Given the description of an element on the screen output the (x, y) to click on. 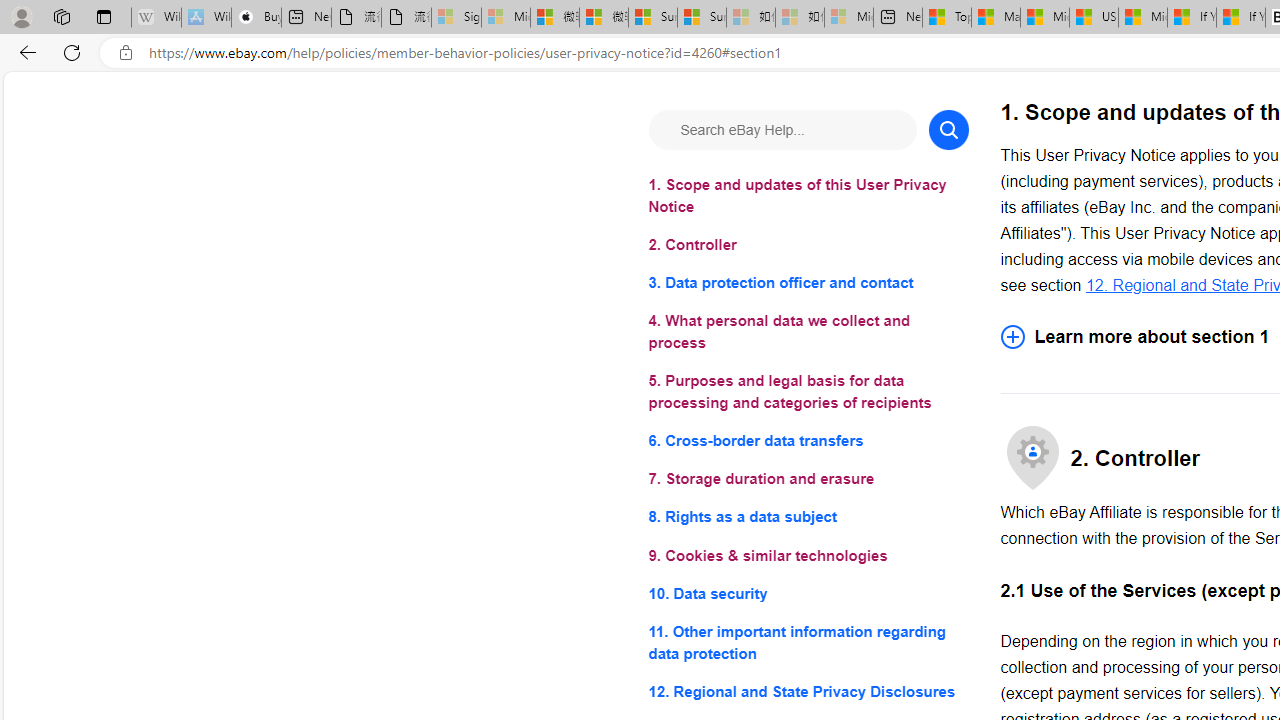
7. Storage duration and erasure (807, 479)
9. Cookies & similar technologies (807, 555)
Top Stories - MSN (946, 17)
Buy iPad - Apple (256, 17)
Marine life - MSN (995, 17)
11. Other important information regarding data protection (807, 642)
1. Scope and updates of this User Privacy Notice (807, 196)
9. Cookies & similar technologies (807, 555)
8. Rights as a data subject (807, 517)
2. Controller (807, 245)
Wikipedia - Sleeping (155, 17)
